Given the description of an element on the screen output the (x, y) to click on. 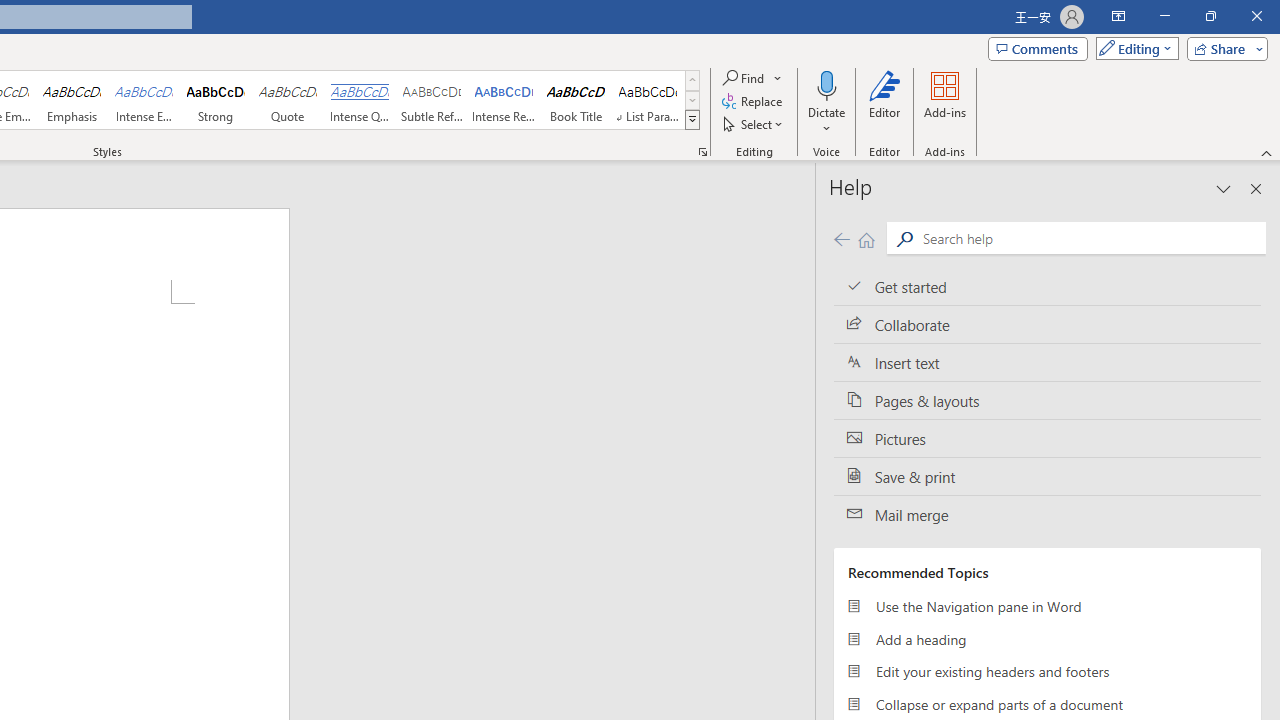
Task Pane Options (1224, 188)
Row Down (692, 100)
Intense Emphasis (143, 100)
Get started (1047, 286)
Styles (692, 120)
Row up (692, 79)
Intense Reference (504, 100)
Editor (885, 102)
Quote (287, 100)
Select (754, 124)
Strong (216, 100)
